Given the description of an element on the screen output the (x, y) to click on. 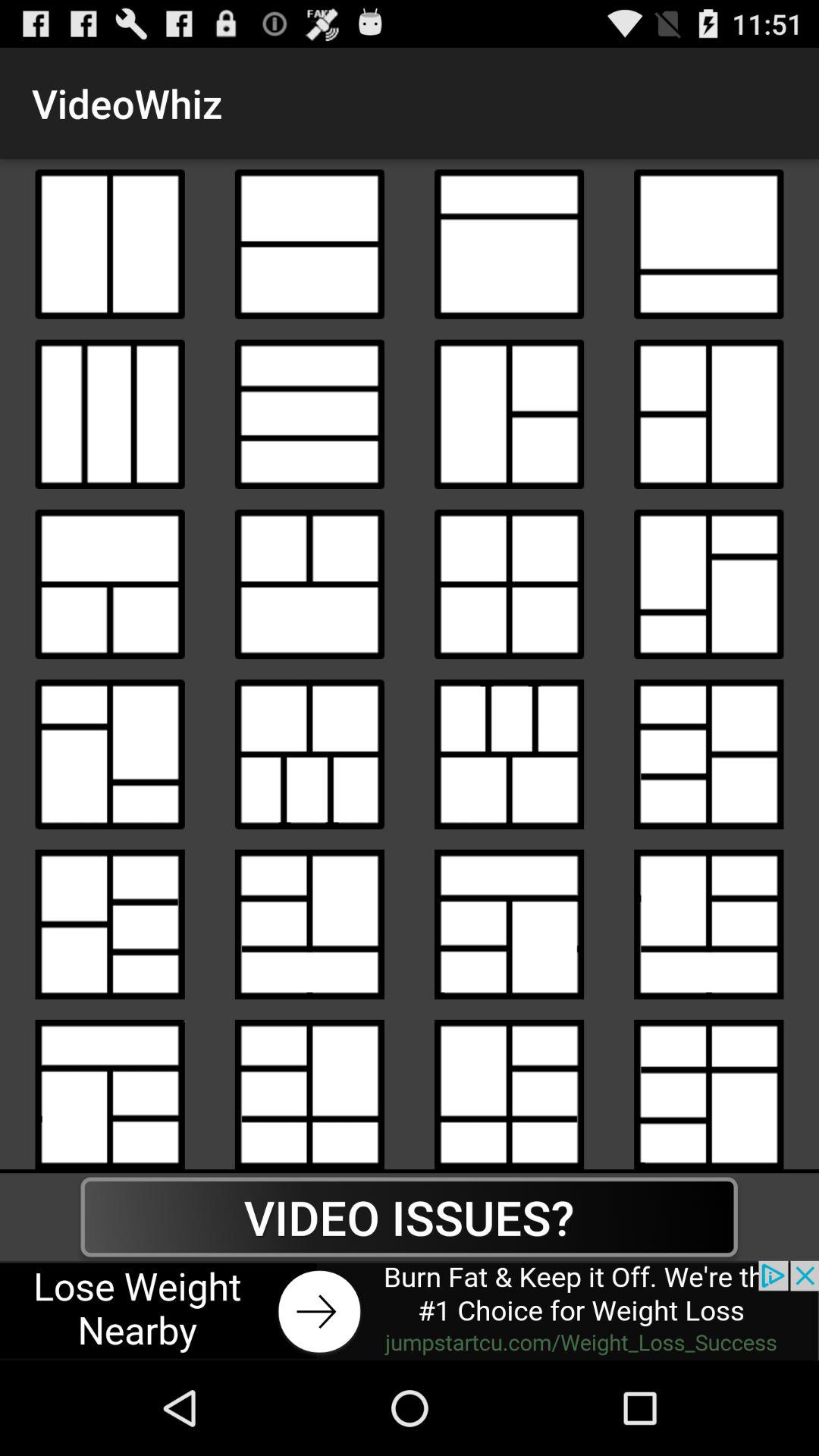
go to image (708, 584)
